Given the description of an element on the screen output the (x, y) to click on. 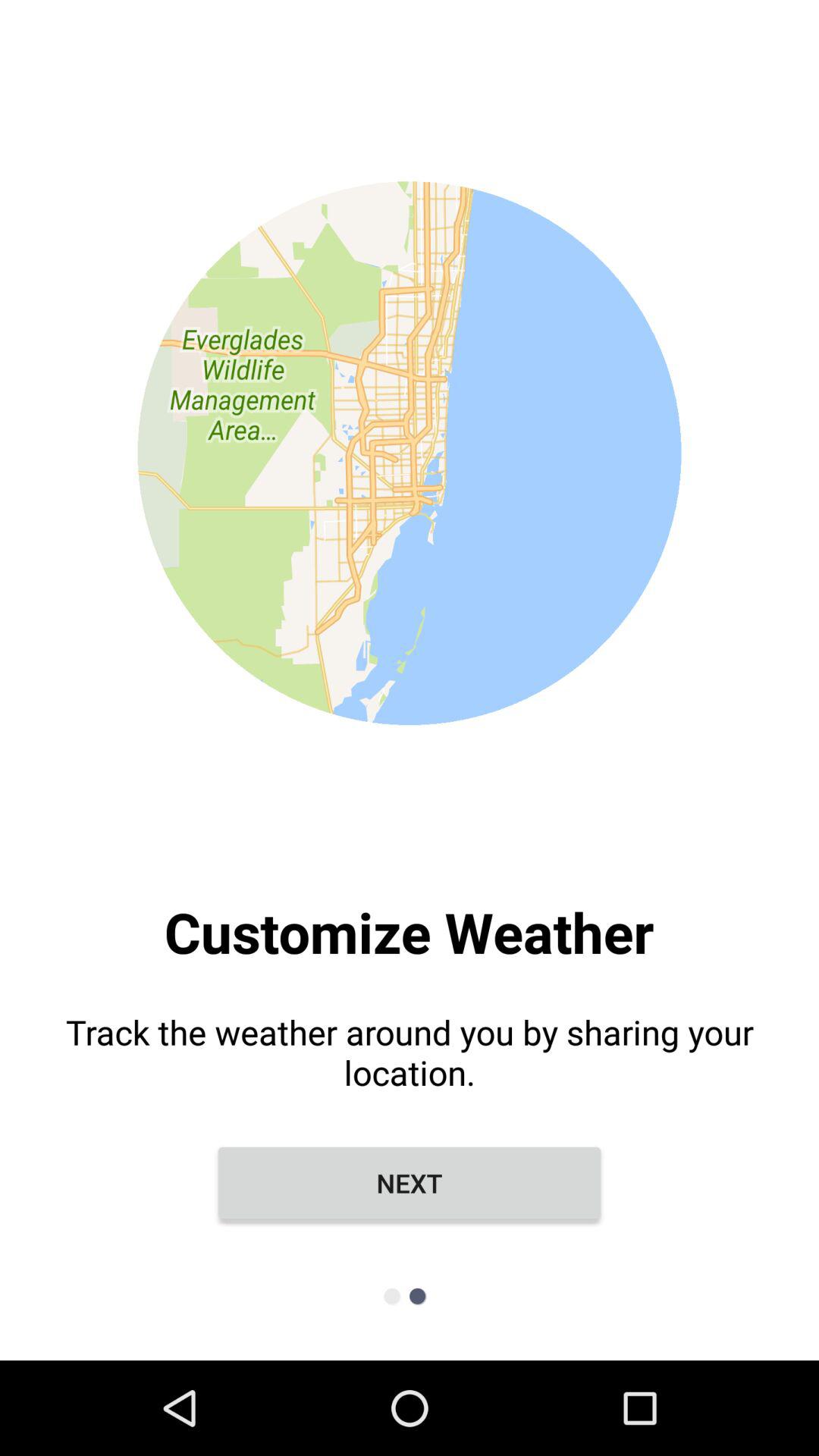
select the next item (409, 1182)
